Given the description of an element on the screen output the (x, y) to click on. 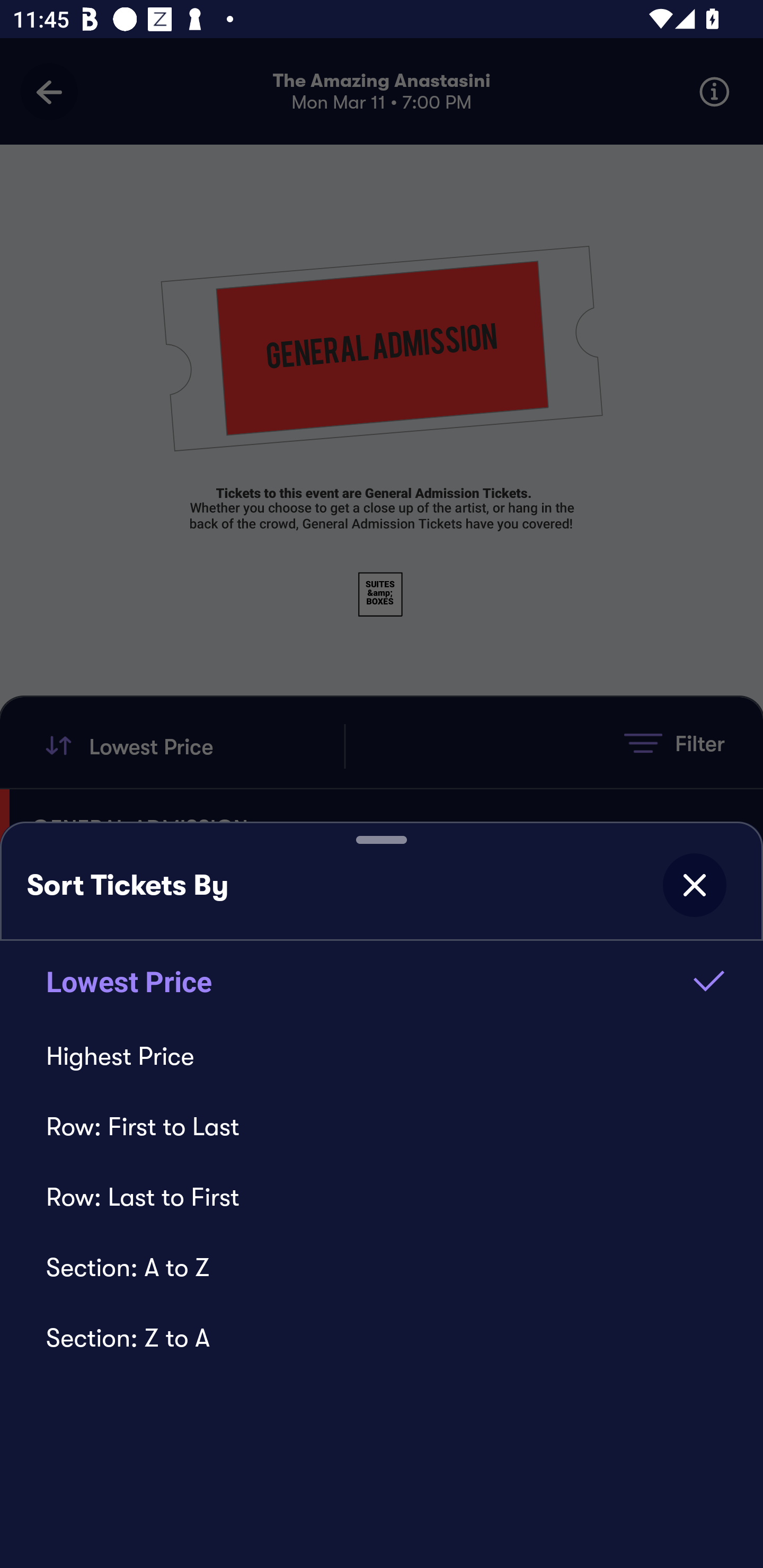
close (694, 884)
Lowest Price (381, 980)
Highest Price (381, 1055)
Row: First to Last (381, 1126)
Row: Last to First (381, 1196)
Section: A to Z (381, 1267)
Section: Z to A (381, 1338)
